Given the description of an element on the screen output the (x, y) to click on. 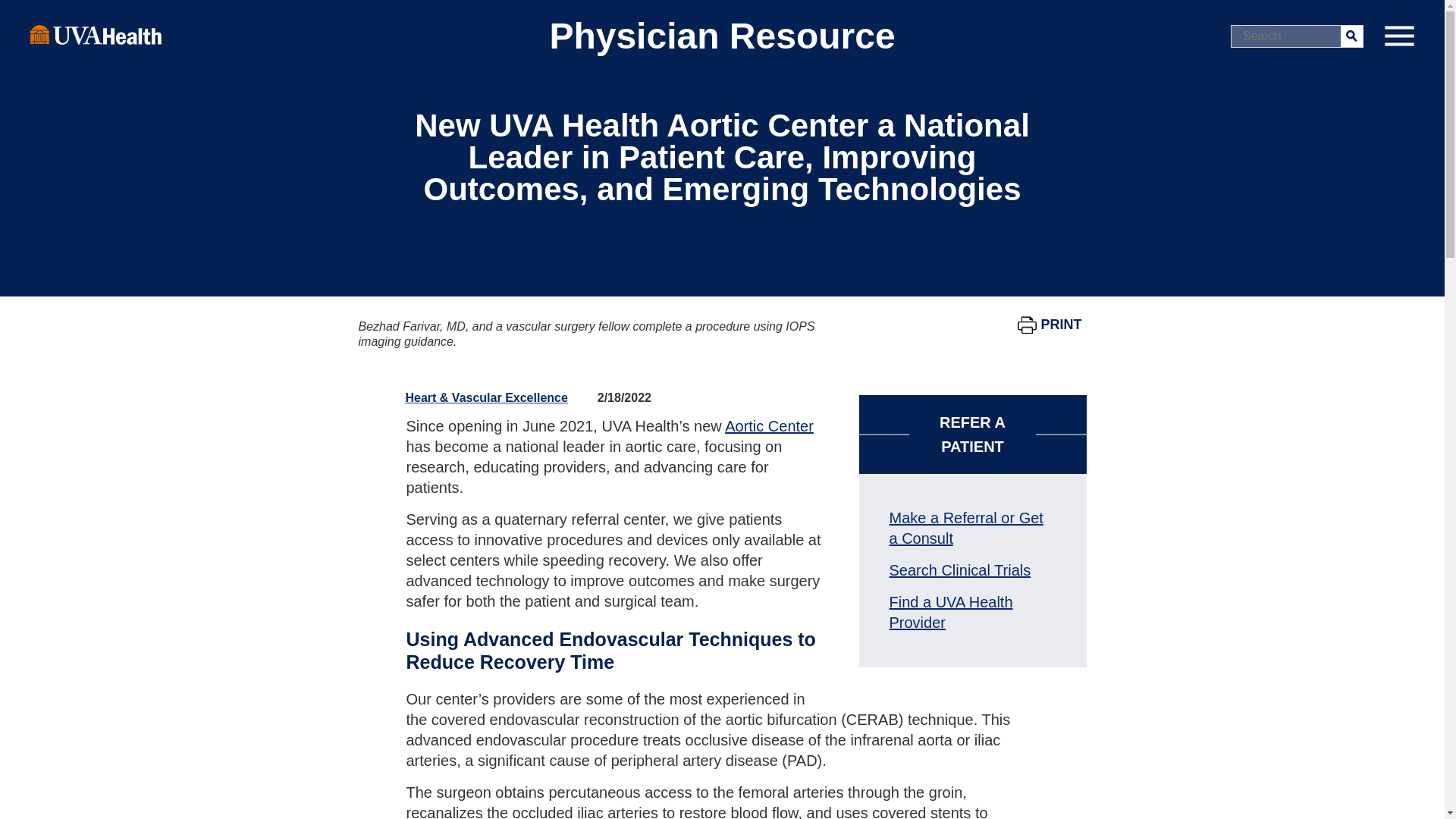
logo of UVA Health (95, 34)
Physician Resource (722, 35)
Find a UVA Health Provider (949, 611)
Search Toggle (15, 11)
PRINT (1049, 324)
Submit the Search Form (1351, 35)
Make a Referral or Get a Consult (965, 528)
Search Clinical Trials (959, 569)
Aortic Center (769, 425)
menu toggle (1398, 36)
